Given the description of an element on the screen output the (x, y) to click on. 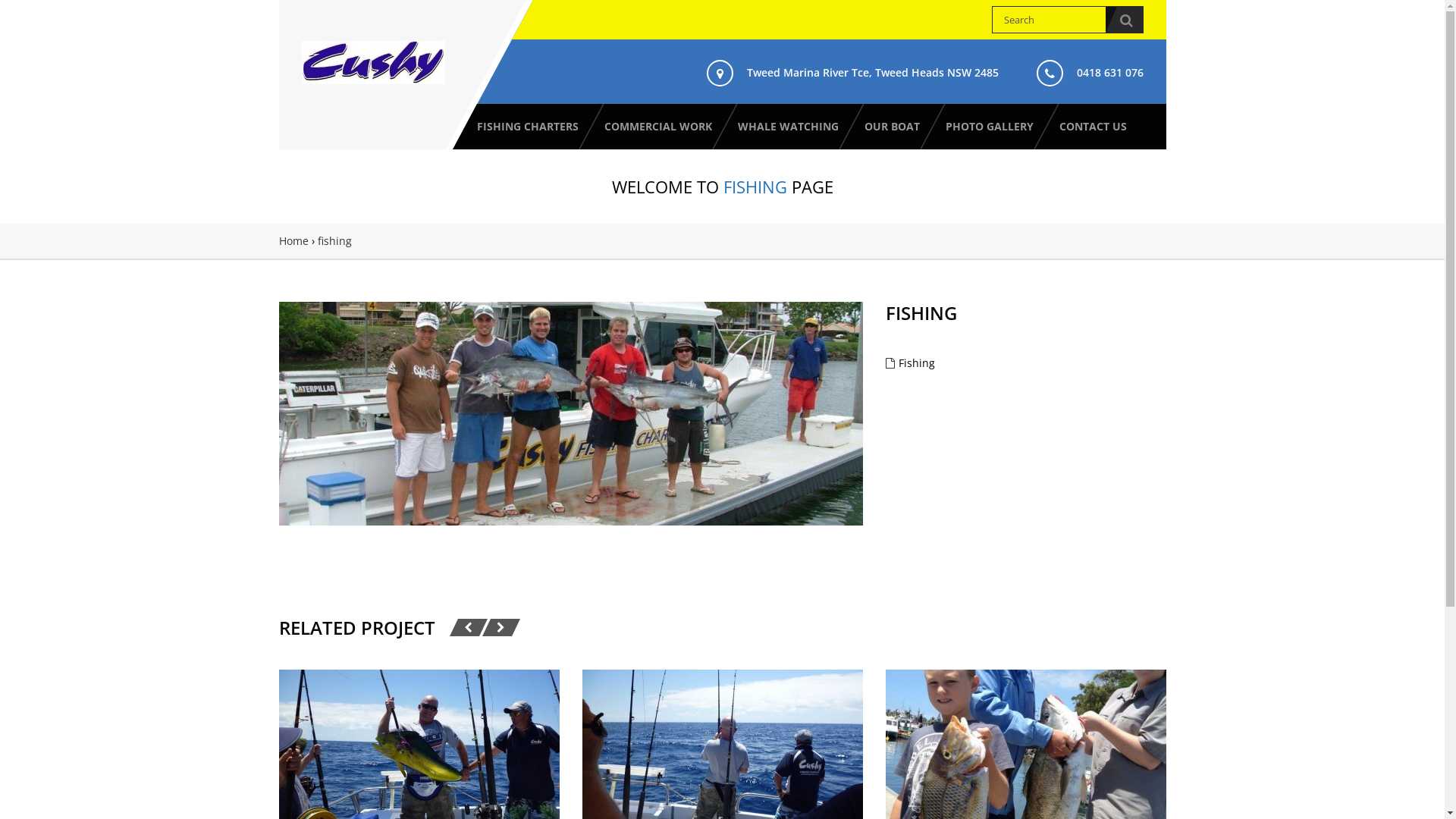
fishing Element type: hover (419, 747)
CONTACT US Element type: text (1092, 126)
COMMERCIAL WORK Element type: text (657, 126)
FISHING CHARTERS Element type: text (526, 126)
fishing Element type: hover (1025, 747)
Fishing Element type: text (915, 362)
Cushy Fishing Charters Element type: hover (373, 61)
PHOTO GALLERY Element type: text (988, 126)
WHALE WATCHING Element type: text (787, 126)
OUR BOAT Element type: text (891, 126)
Home Element type: text (293, 240)
fishing Element type: hover (722, 747)
